Given the description of an element on the screen output the (x, y) to click on. 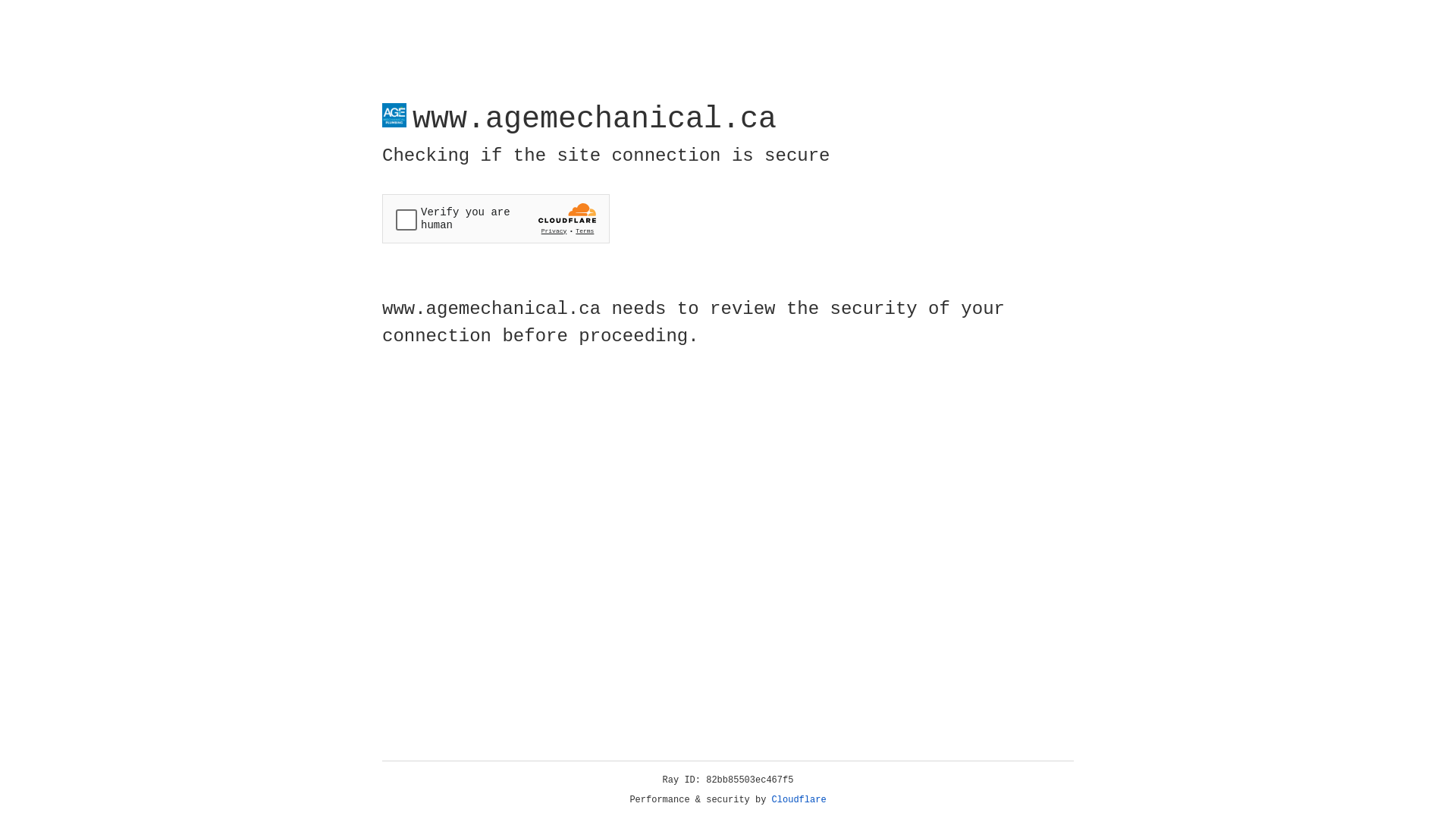
Cloudflare Element type: text (798, 799)
Widget containing a Cloudflare security challenge Element type: hover (495, 218)
